Given the description of an element on the screen output the (x, y) to click on. 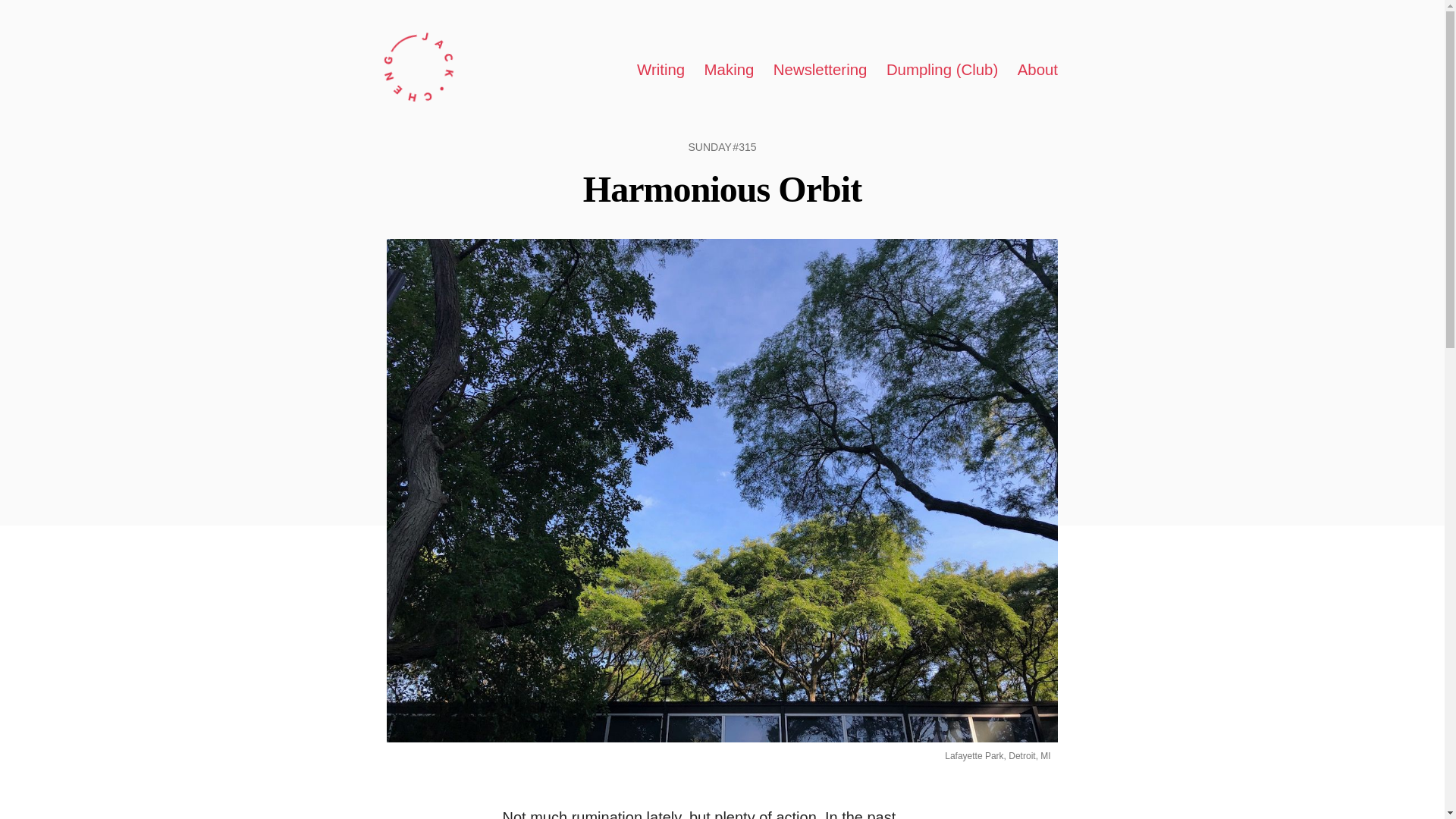
SUNDAY (708, 146)
Writing (660, 69)
Newslettering (820, 69)
About (1037, 69)
Jack Cheng (418, 66)
Making (729, 69)
Jack Cheng (418, 69)
